Given the description of an element on the screen output the (x, y) to click on. 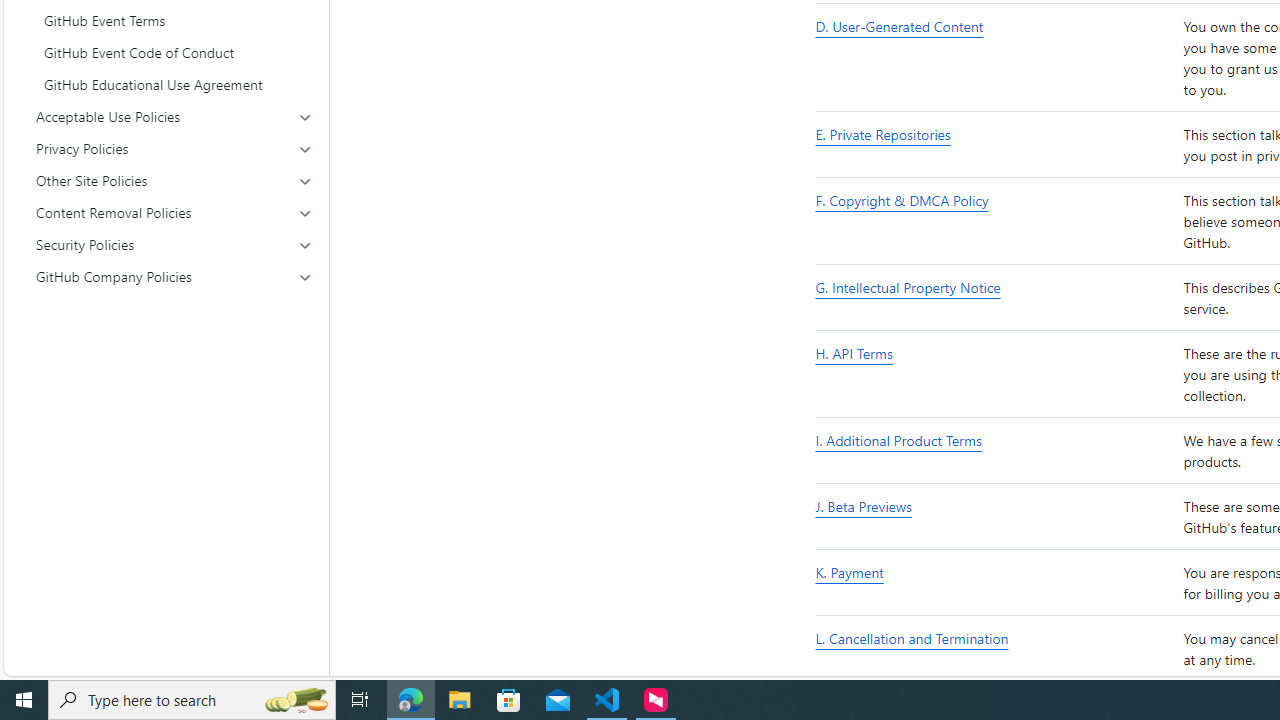
GitHub Company Policies (174, 276)
Other Site Policies (174, 180)
D. User-Generated Content (995, 58)
H. API Terms (854, 354)
G. Intellectual Property Notice (907, 287)
Acceptable Use Policies (174, 116)
G. Intellectual Property Notice (995, 297)
GitHub Educational Use Agreement (174, 84)
Security Policies (174, 244)
K. Payment (995, 583)
K. Payment (849, 573)
E. Private Repositories (995, 145)
J. Beta Previews (995, 516)
L. Cancellation and Termination (995, 649)
Content Removal Policies (174, 212)
